Given the description of an element on the screen output the (x, y) to click on. 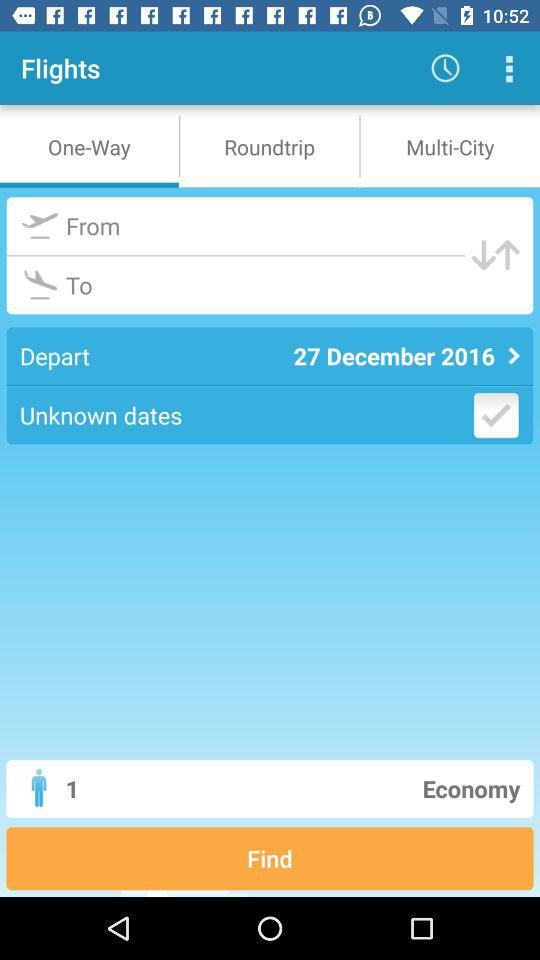
select date (496, 415)
